Given the description of an element on the screen output the (x, y) to click on. 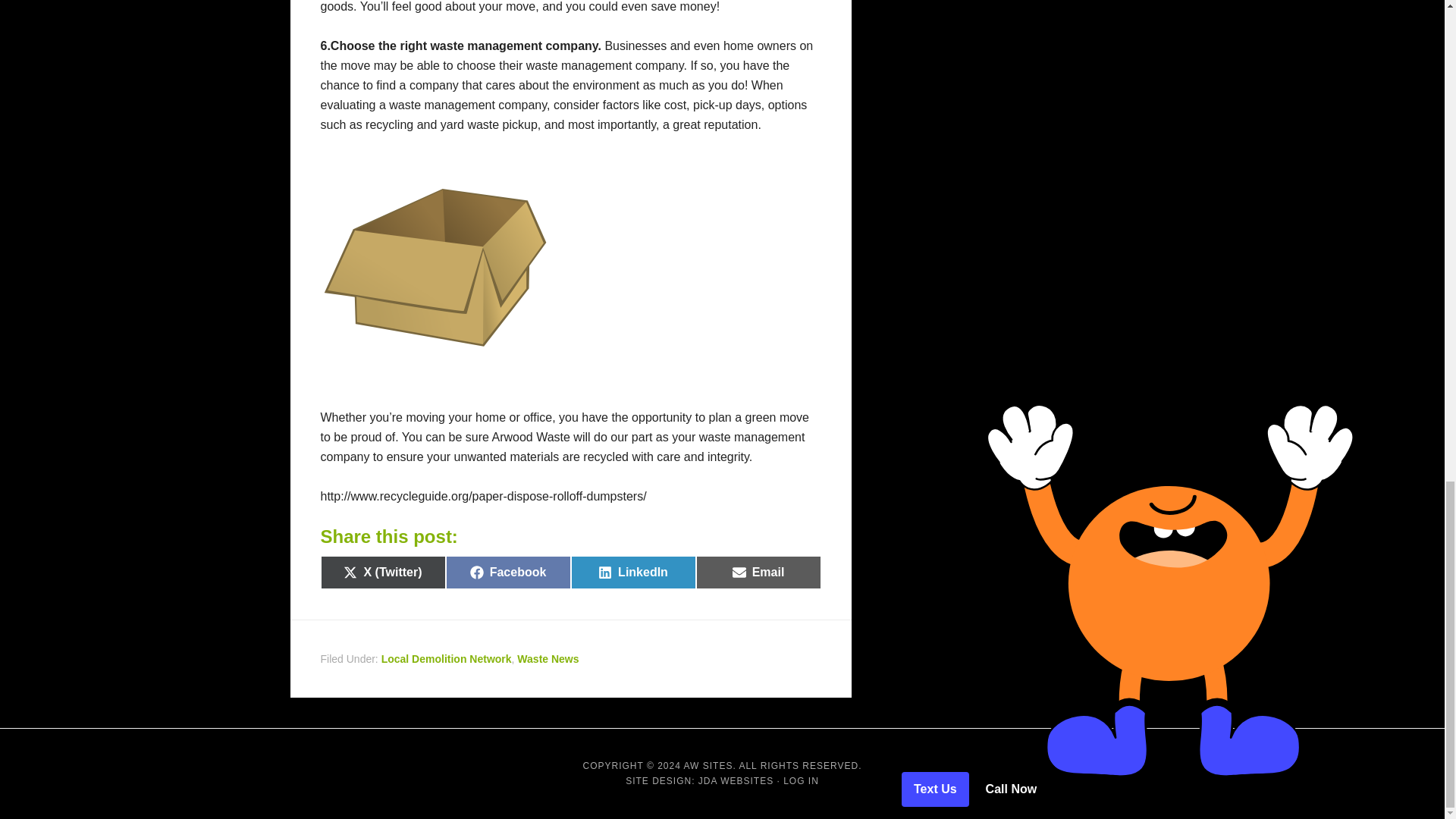
AW SITES (632, 572)
Waste News (758, 572)
JDA WEBSITES (708, 765)
LOG IN (547, 658)
Local Demolition Network (507, 572)
JDA Websites - Building the Best Waste Sites in the Industry (735, 780)
